Given the description of an element on the screen output the (x, y) to click on. 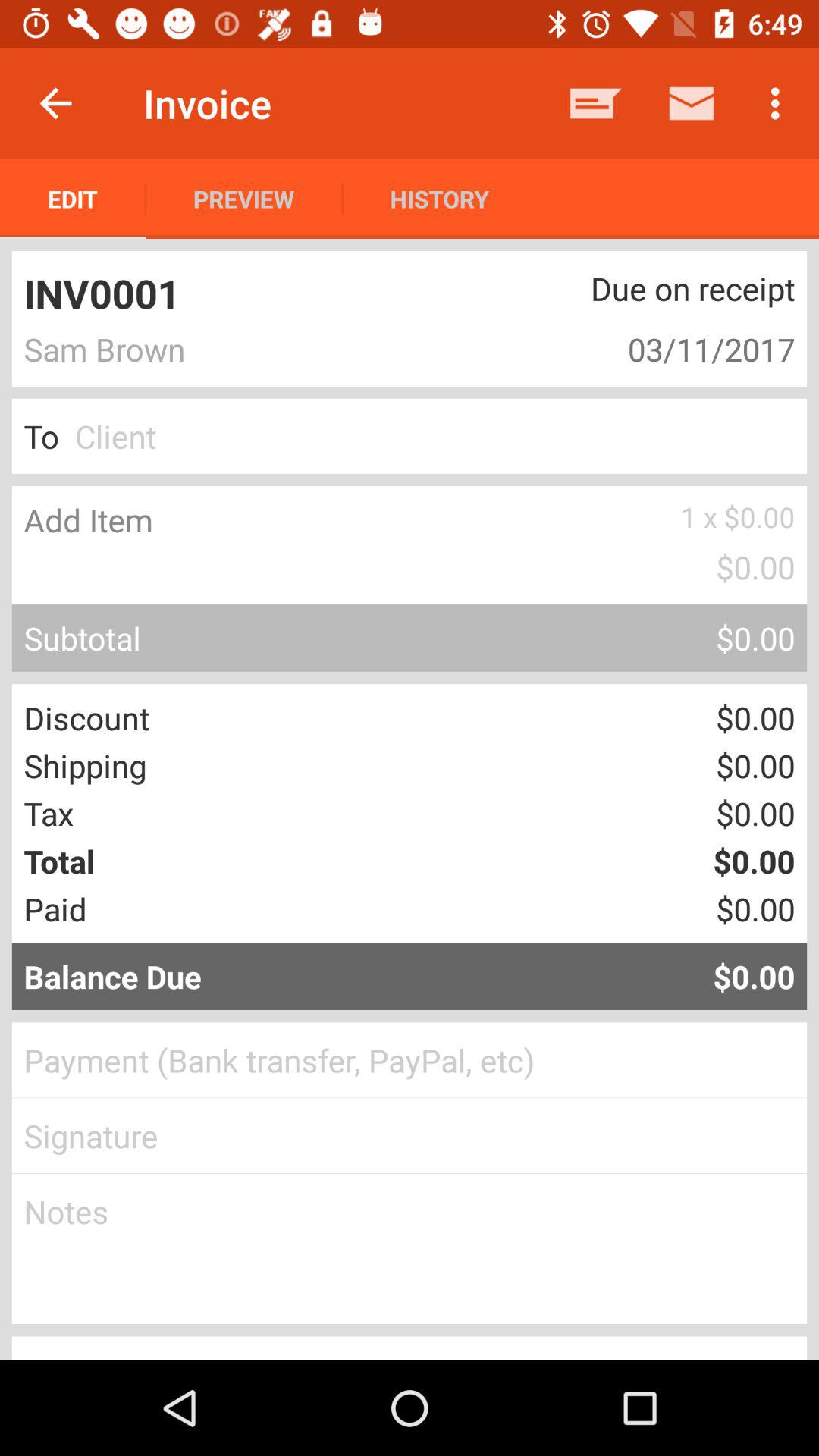
tap the item next to history item (243, 198)
